Given the description of an element on the screen output the (x, y) to click on. 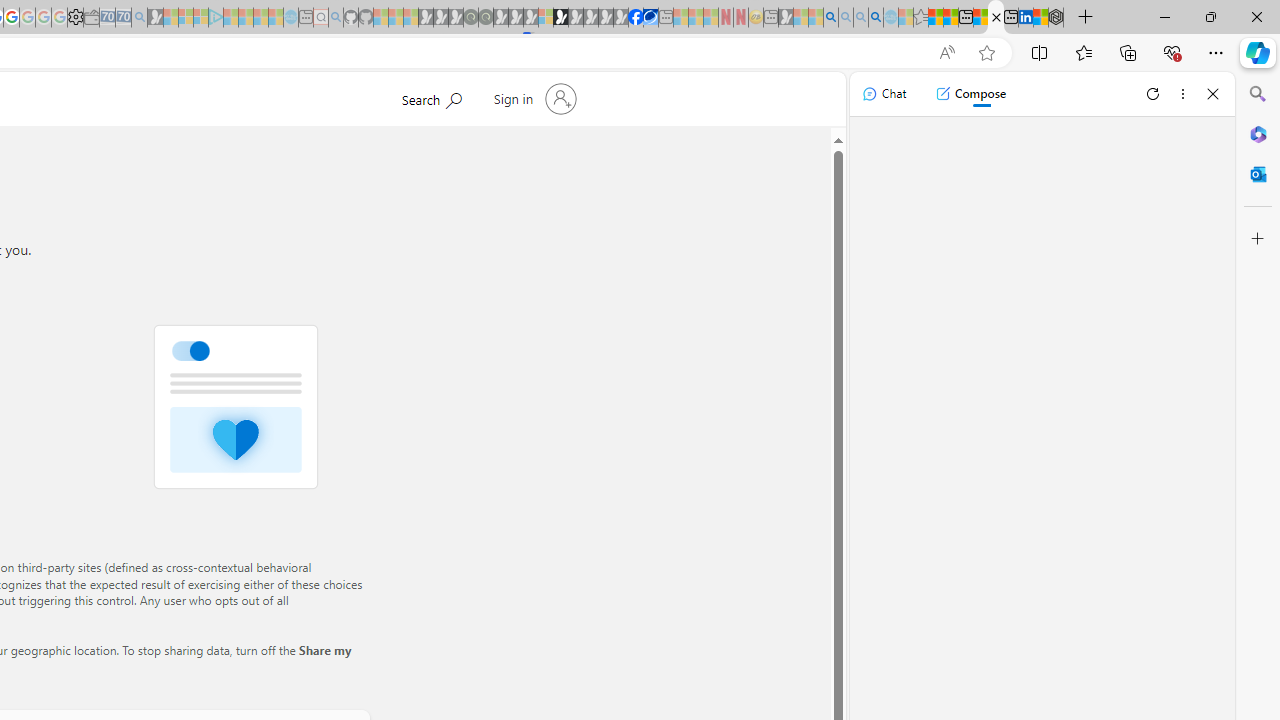
Future Focus Report 2024 - Sleeping (485, 17)
